Given the description of an element on the screen output the (x, y) to click on. 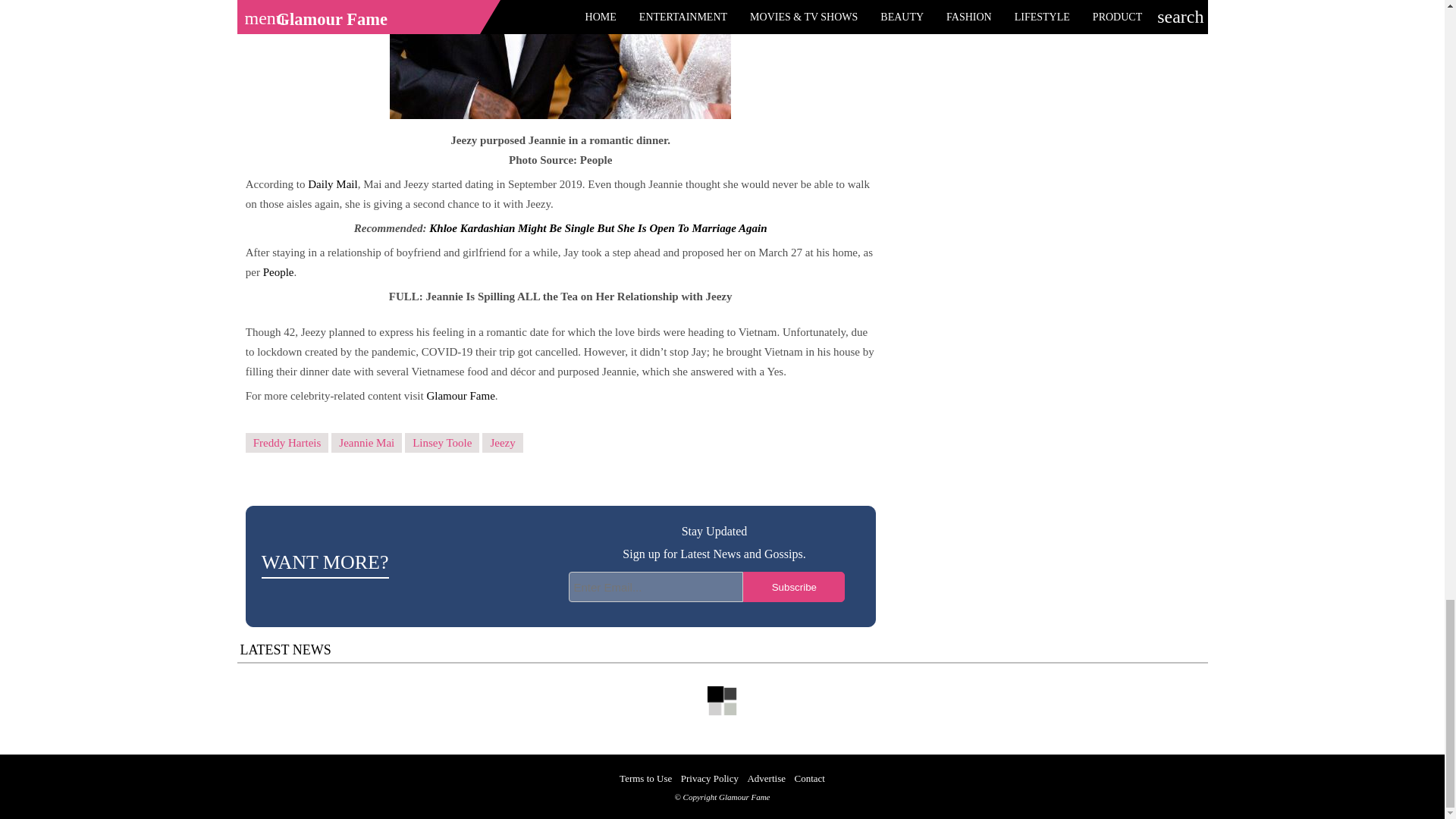
People (277, 272)
Daily Mail (330, 184)
Freddy Harteis (287, 443)
Glamour Fame (460, 395)
Jeannie Mai (366, 443)
Linsey Toole (441, 443)
